Given the description of an element on the screen output the (x, y) to click on. 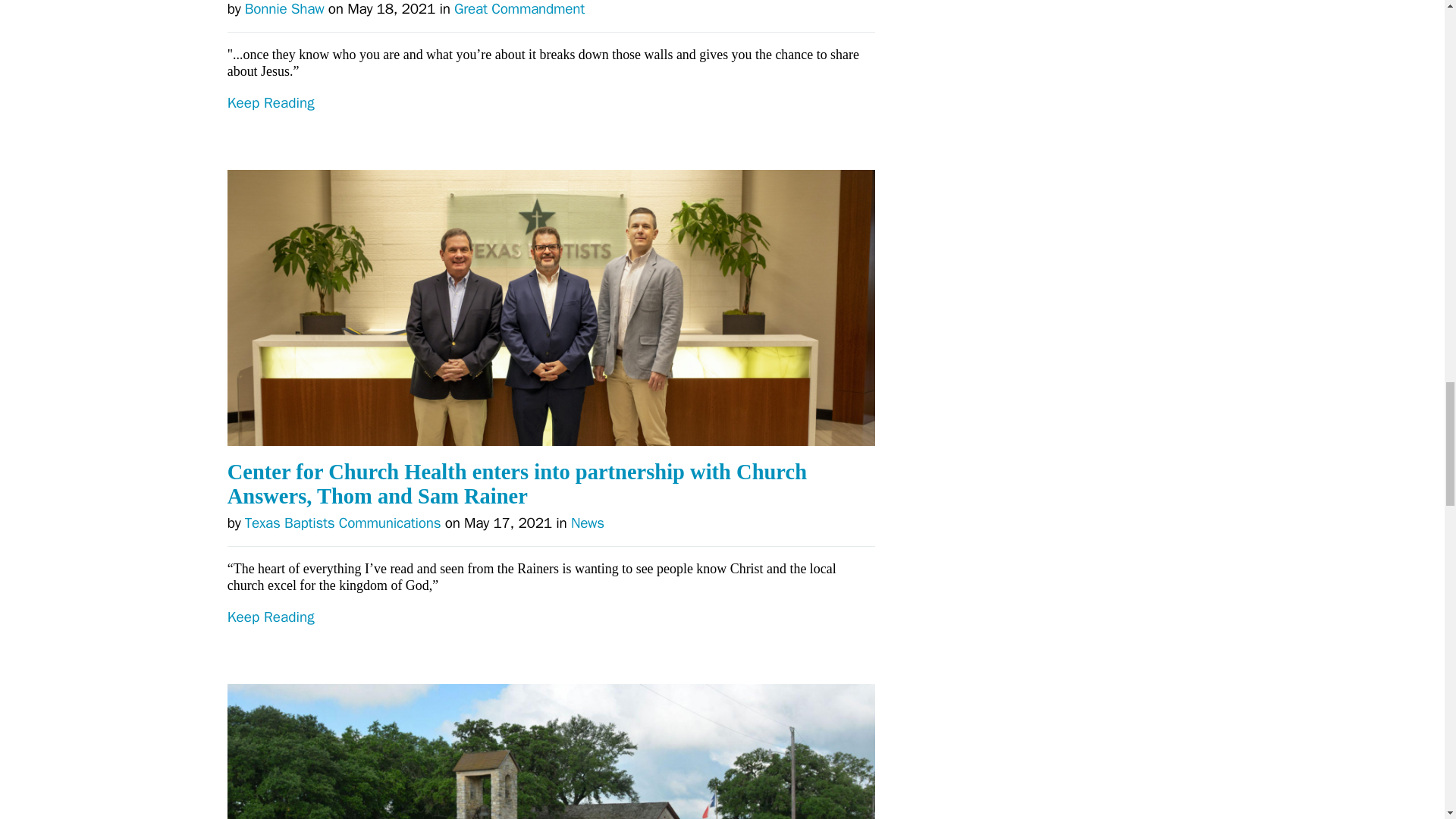
Keep Reading (551, 132)
Bonnie Shaw (284, 9)
News (587, 523)
Texas Baptists Communications (342, 523)
Great Commandment (519, 9)
Keep Reading (551, 646)
